Given the description of an element on the screen output the (x, y) to click on. 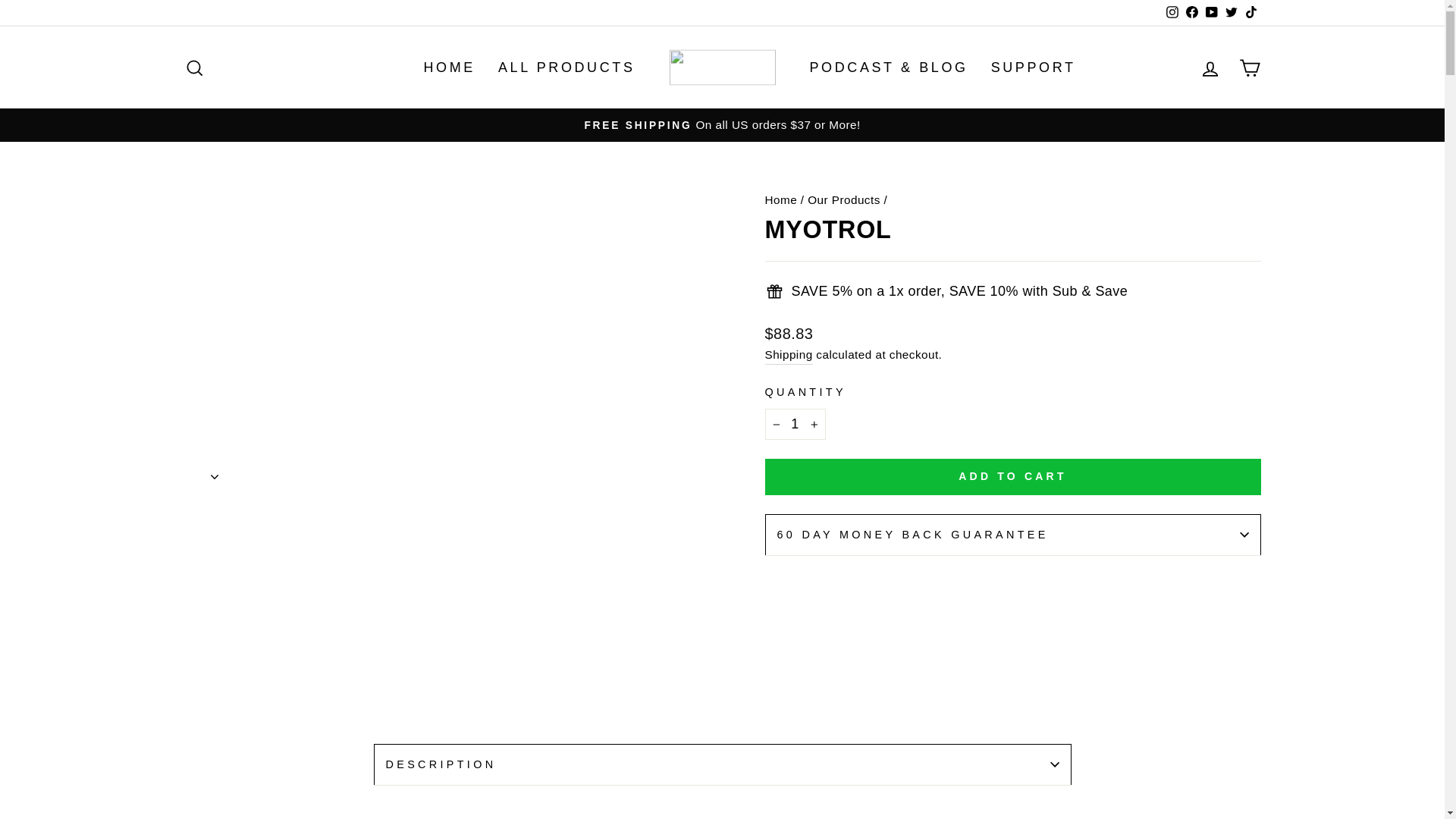
1 (794, 423)
SEARCH (194, 67)
Back to the frontpage (780, 199)
HOME (449, 67)
